Given the description of an element on the screen output the (x, y) to click on. 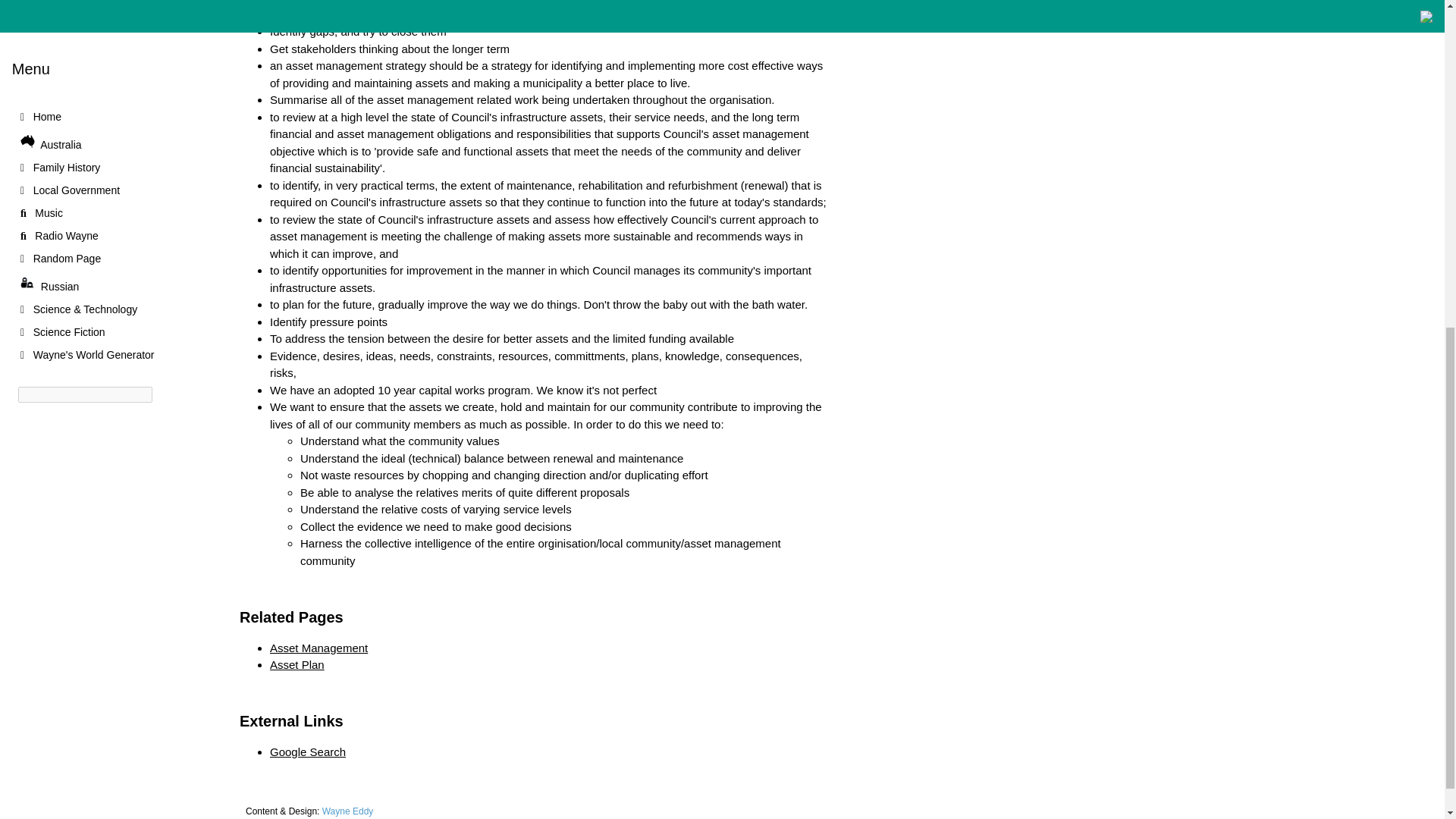
Asset Management (318, 647)
Asset Plan (296, 664)
Google Search (307, 751)
